Given the description of an element on the screen output the (x, y) to click on. 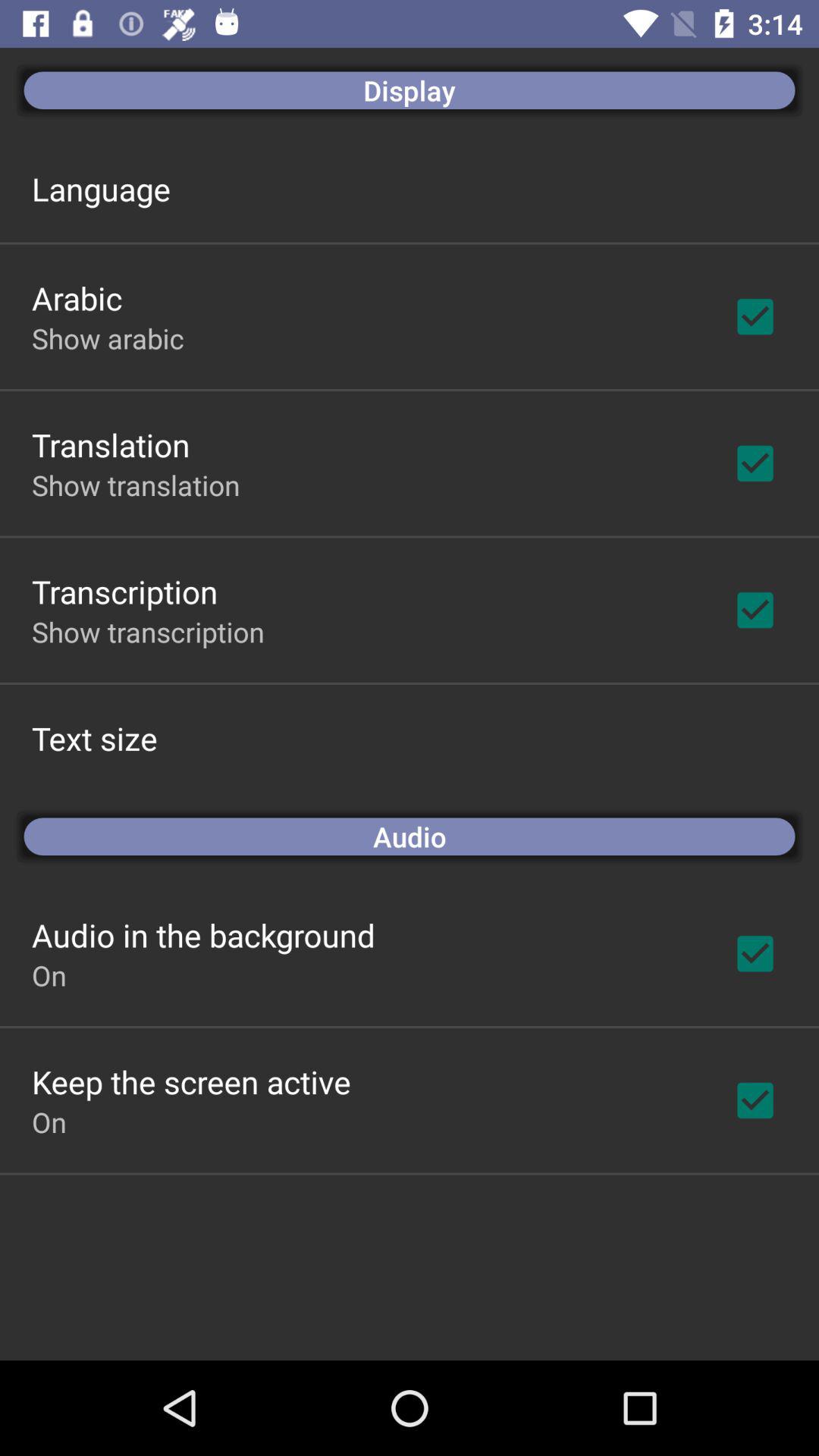
flip to show transcription (147, 631)
